Given the description of an element on the screen output the (x, y) to click on. 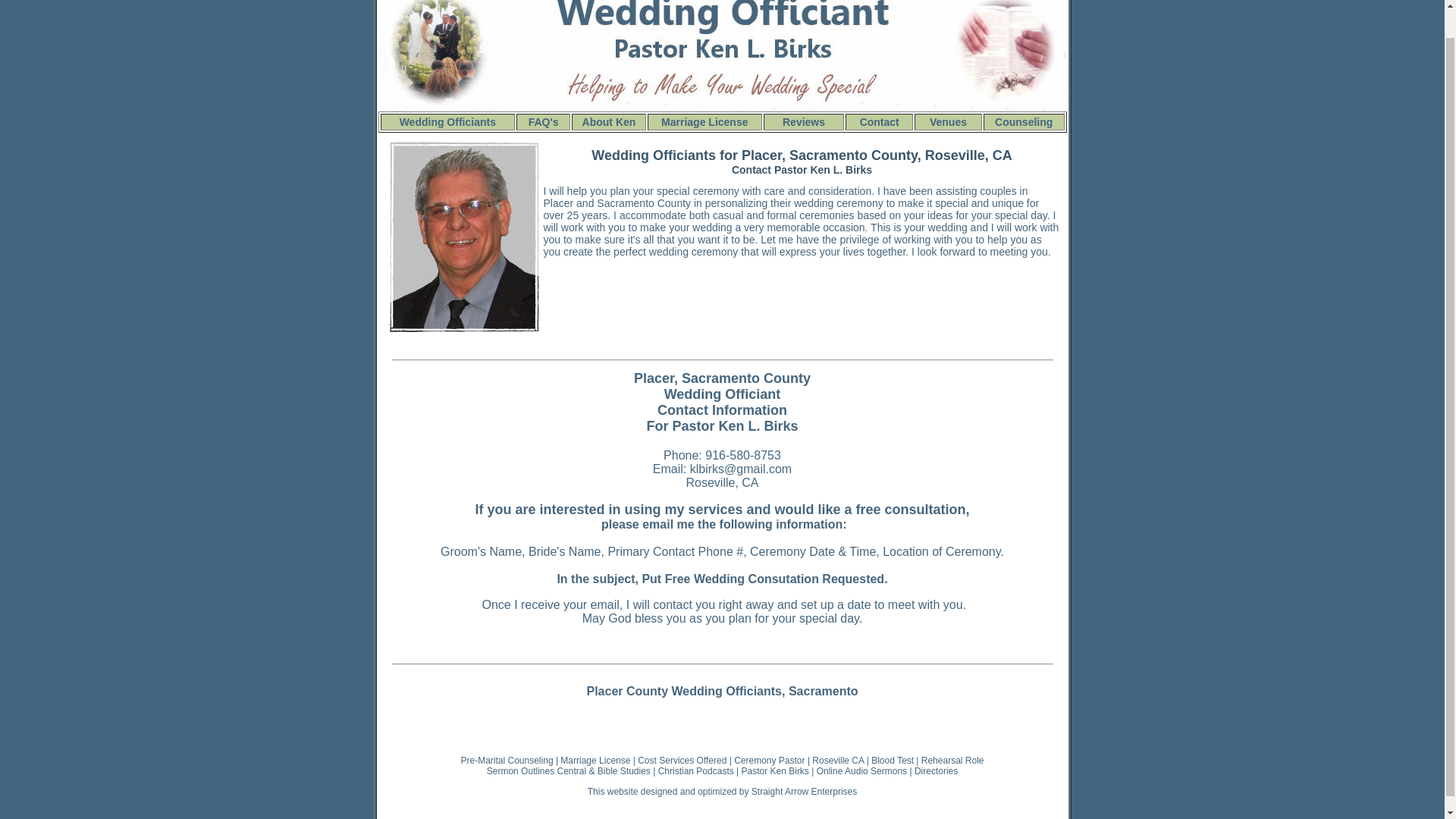
Counseling (1023, 122)
Pre-Marital Counseling (507, 760)
Pastor Ken Birks (773, 770)
Reviews (804, 121)
Online Audio Sermons (861, 770)
Wedding Officiants (447, 121)
Blood Test (891, 760)
Contact (879, 121)
Cost Services Offered (681, 760)
Roseville CA (837, 760)
